Given the description of an element on the screen output the (x, y) to click on. 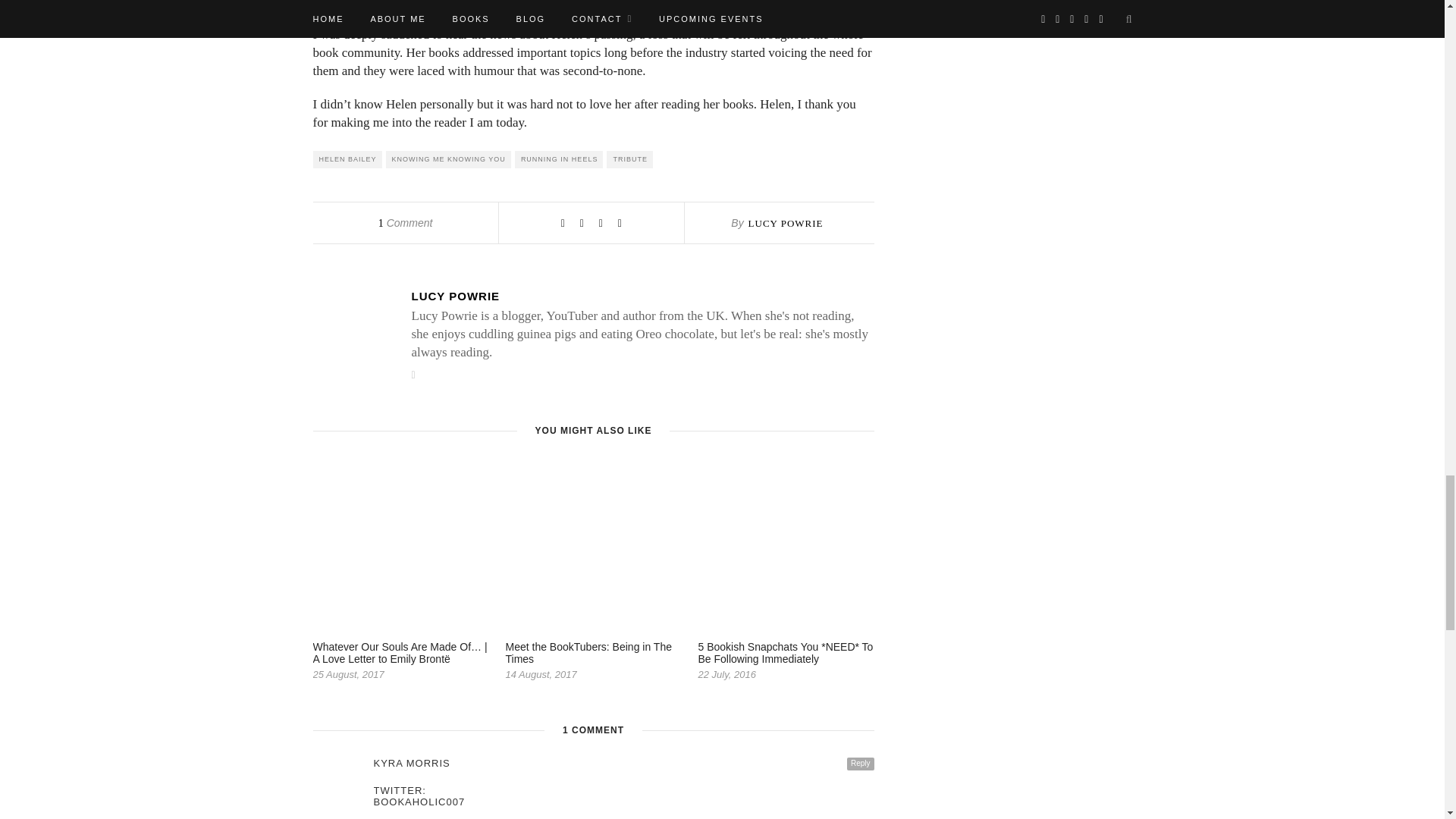
TRIBUTE (629, 159)
Meet the BookTubers: Being in The Times (588, 652)
Posts by Lucy Powrie (786, 223)
HELEN BAILEY (347, 159)
LUCY POWRIE (786, 223)
Reply (861, 763)
KNOWING ME KNOWING YOU (448, 159)
BOOKAHOLIC007 (622, 801)
KYRA MORRIS (622, 763)
LUCY POWRIE (641, 295)
